Given the description of an element on the screen output the (x, y) to click on. 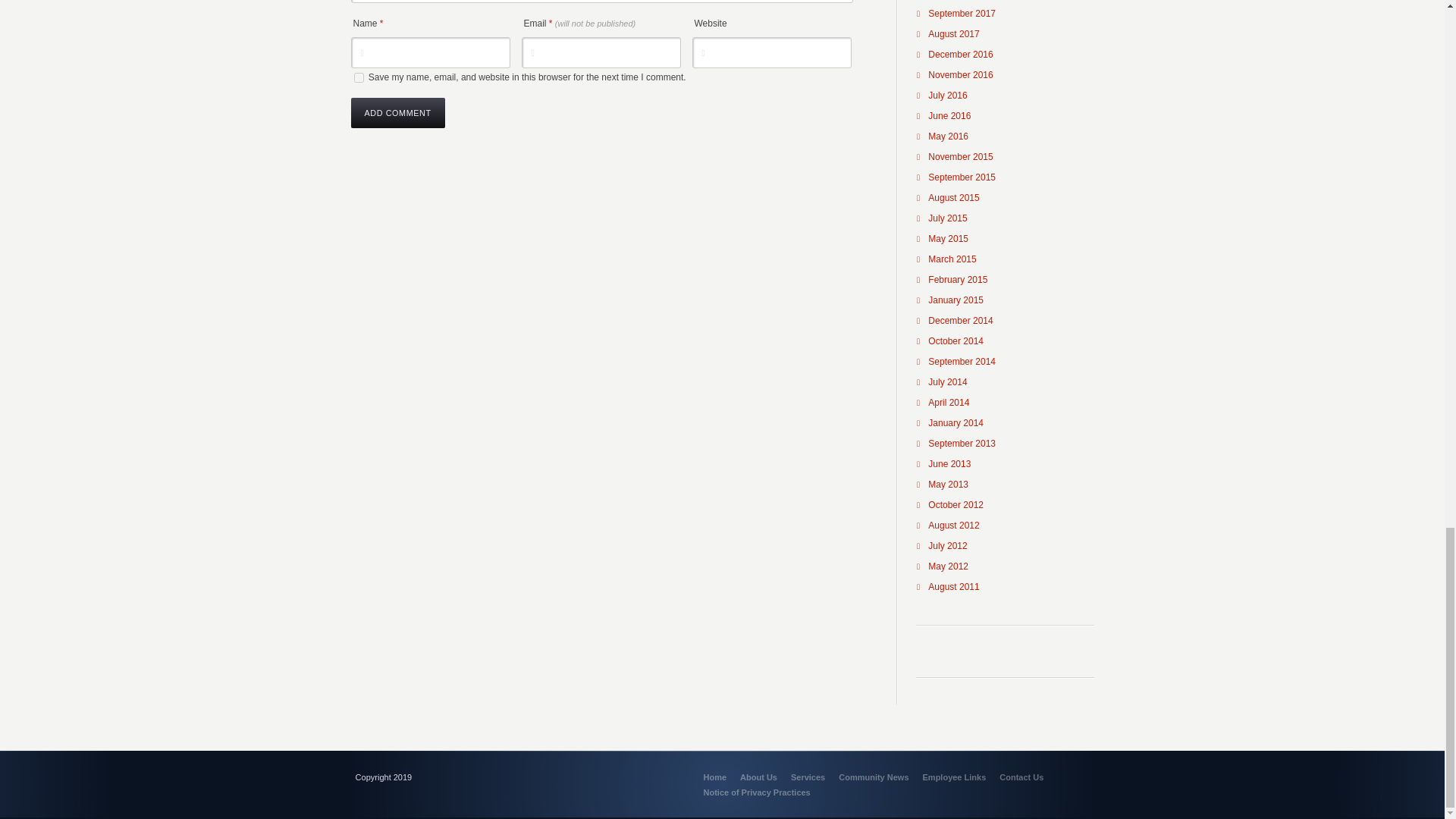
yes (357, 77)
Add Comment (397, 112)
Add Comment (397, 112)
